Given the description of an element on the screen output the (x, y) to click on. 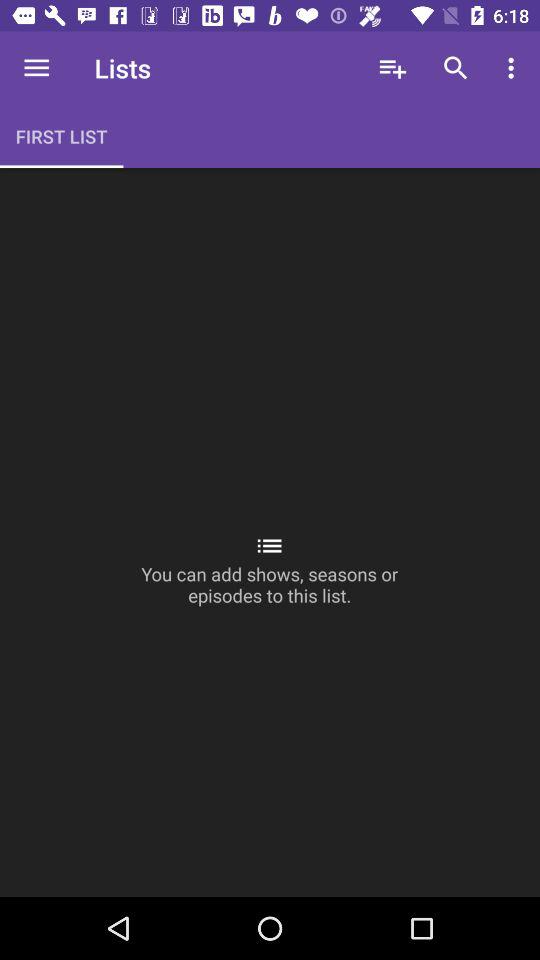
turn off item above you can add icon (455, 67)
